Given the description of an element on the screen output the (x, y) to click on. 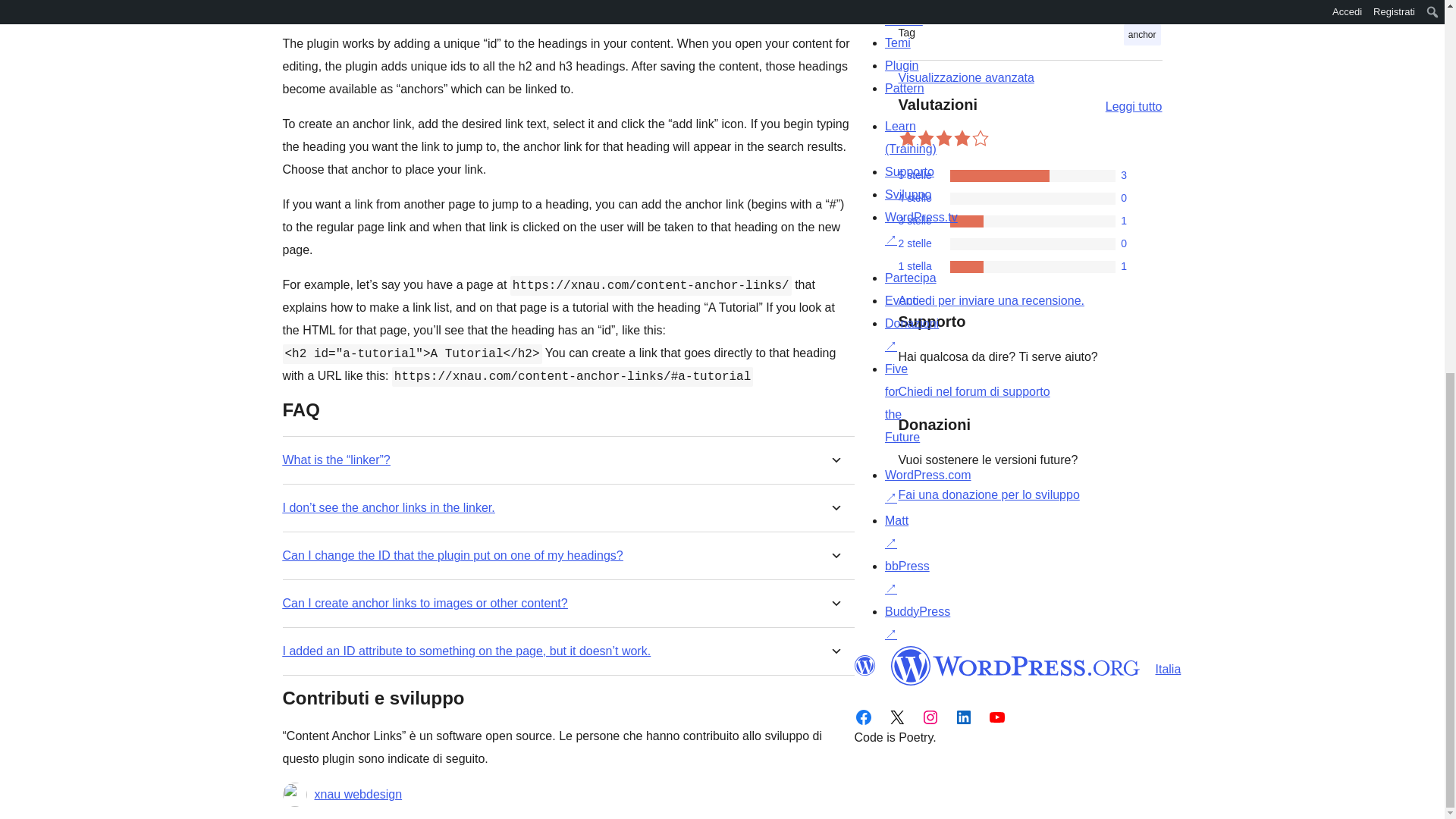
WordPress.org (864, 665)
WordPress.org (1014, 665)
Accedi a WordPress.org (990, 300)
